Given the description of an element on the screen output the (x, y) to click on. 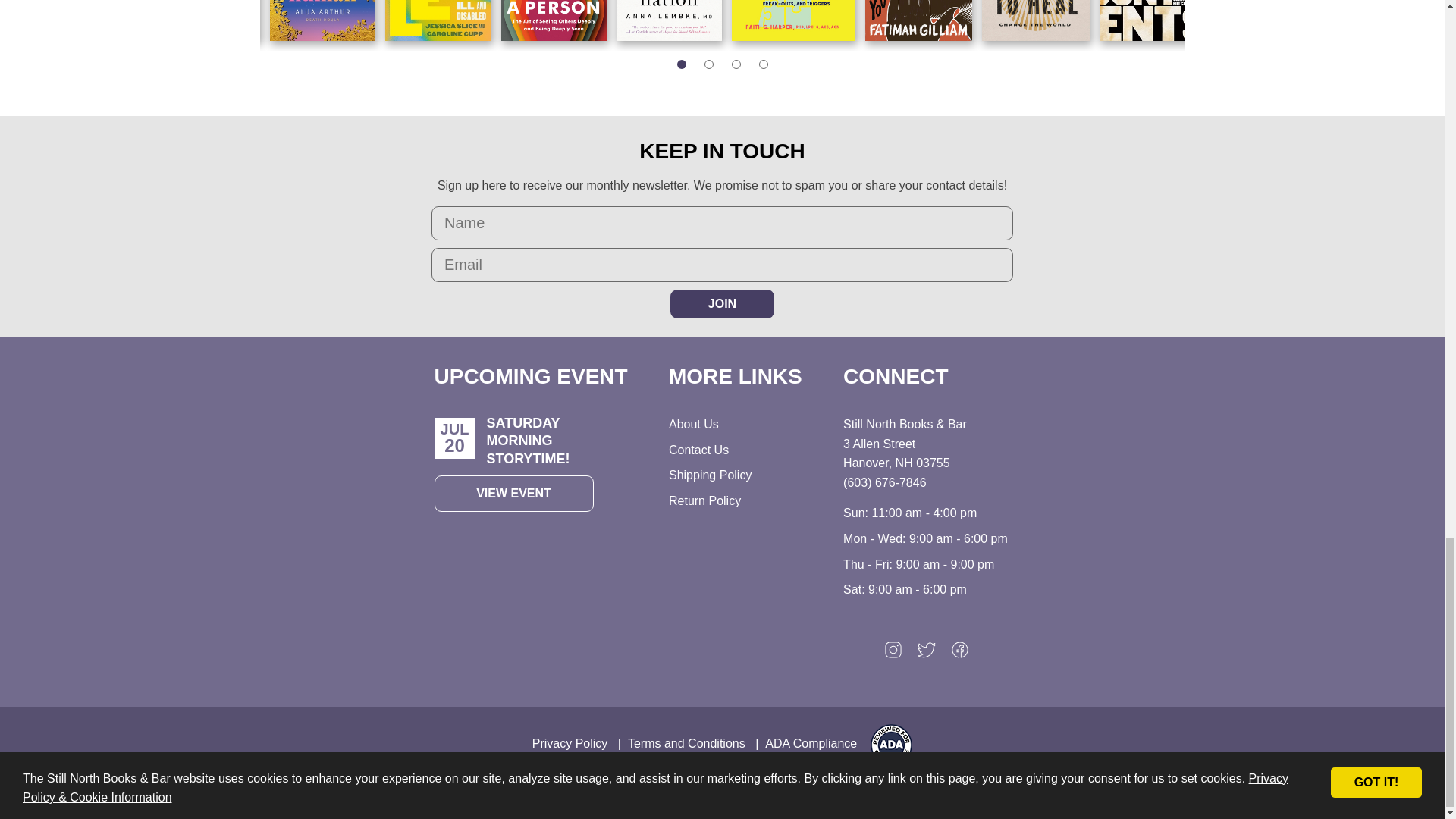
Connect with Facebook (959, 653)
Connect with Twitter (926, 653)
Join (721, 303)
Connect with Instagram (892, 653)
